Given the description of an element on the screen output the (x, y) to click on. 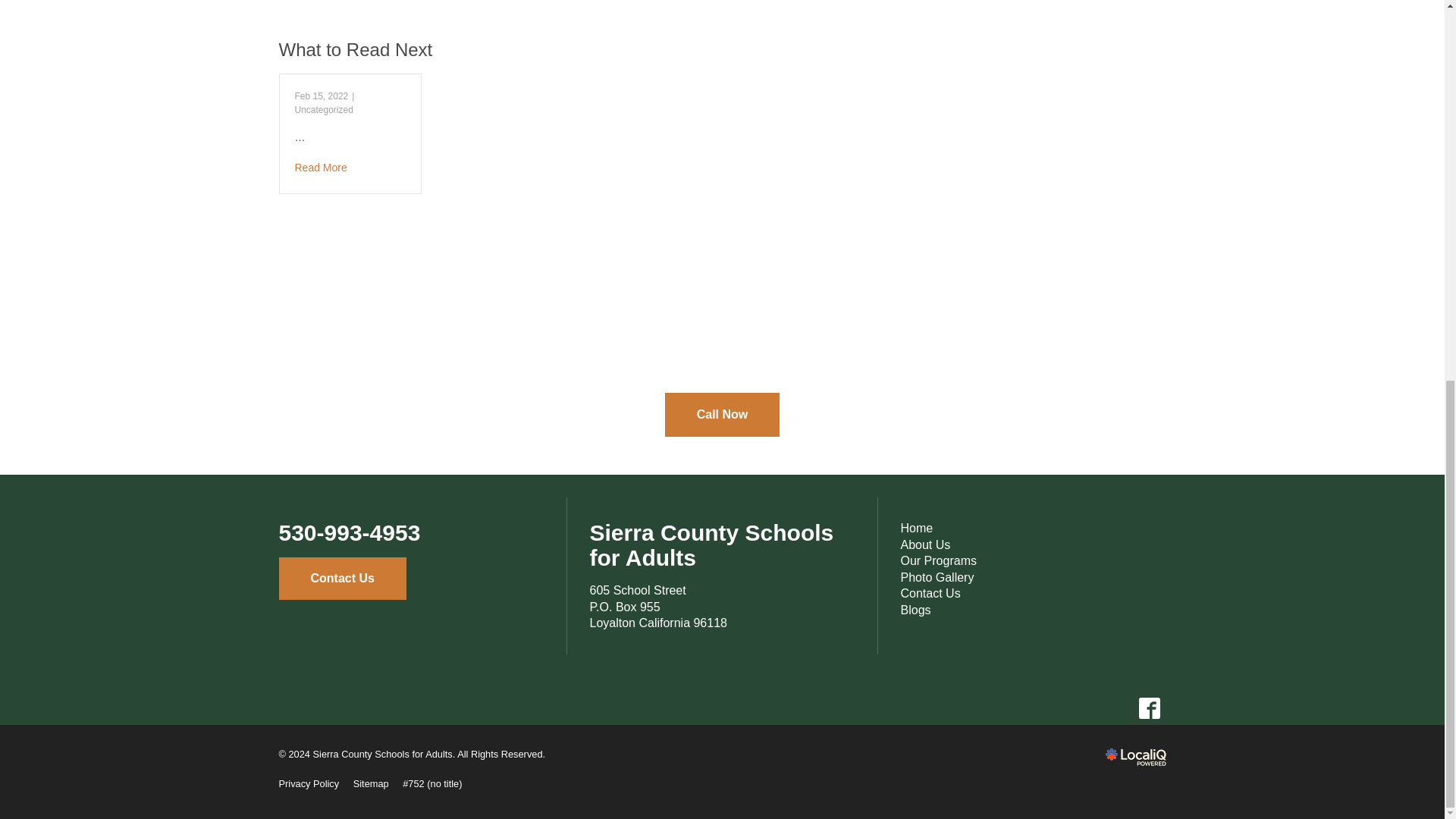
About Us (925, 544)
530-993-4953 (349, 532)
Contact Us (930, 593)
Uncategorized (323, 109)
Contact Us (342, 578)
Our Programs (938, 560)
Photo Gallery (657, 606)
facebook (937, 576)
Read More (1149, 708)
